Given the description of an element on the screen output the (x, y) to click on. 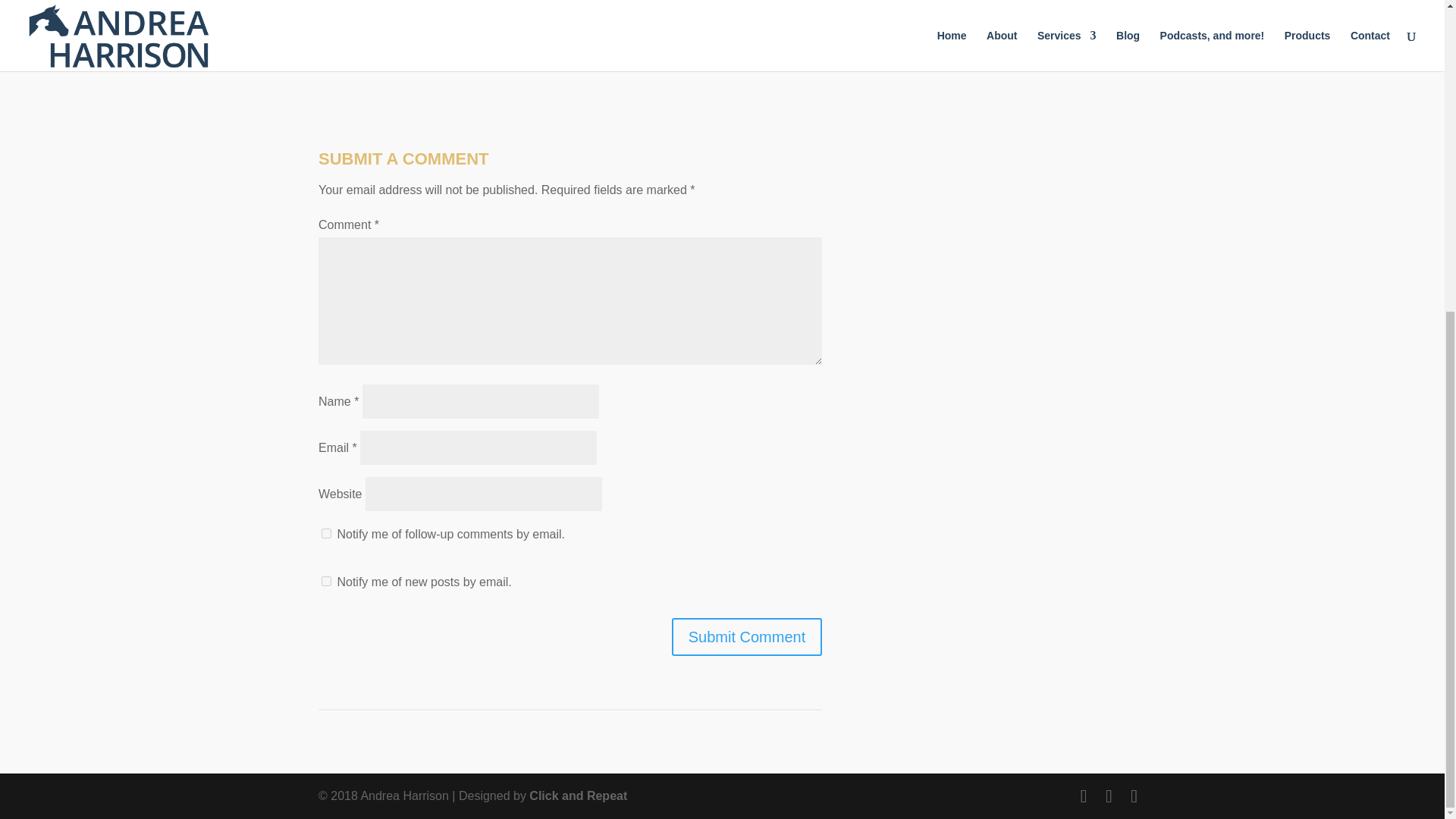
Click and Repeat (578, 795)
subscribe (326, 581)
Submit Comment (746, 637)
Submit Comment (746, 637)
subscribe (326, 533)
